Given the description of an element on the screen output the (x, y) to click on. 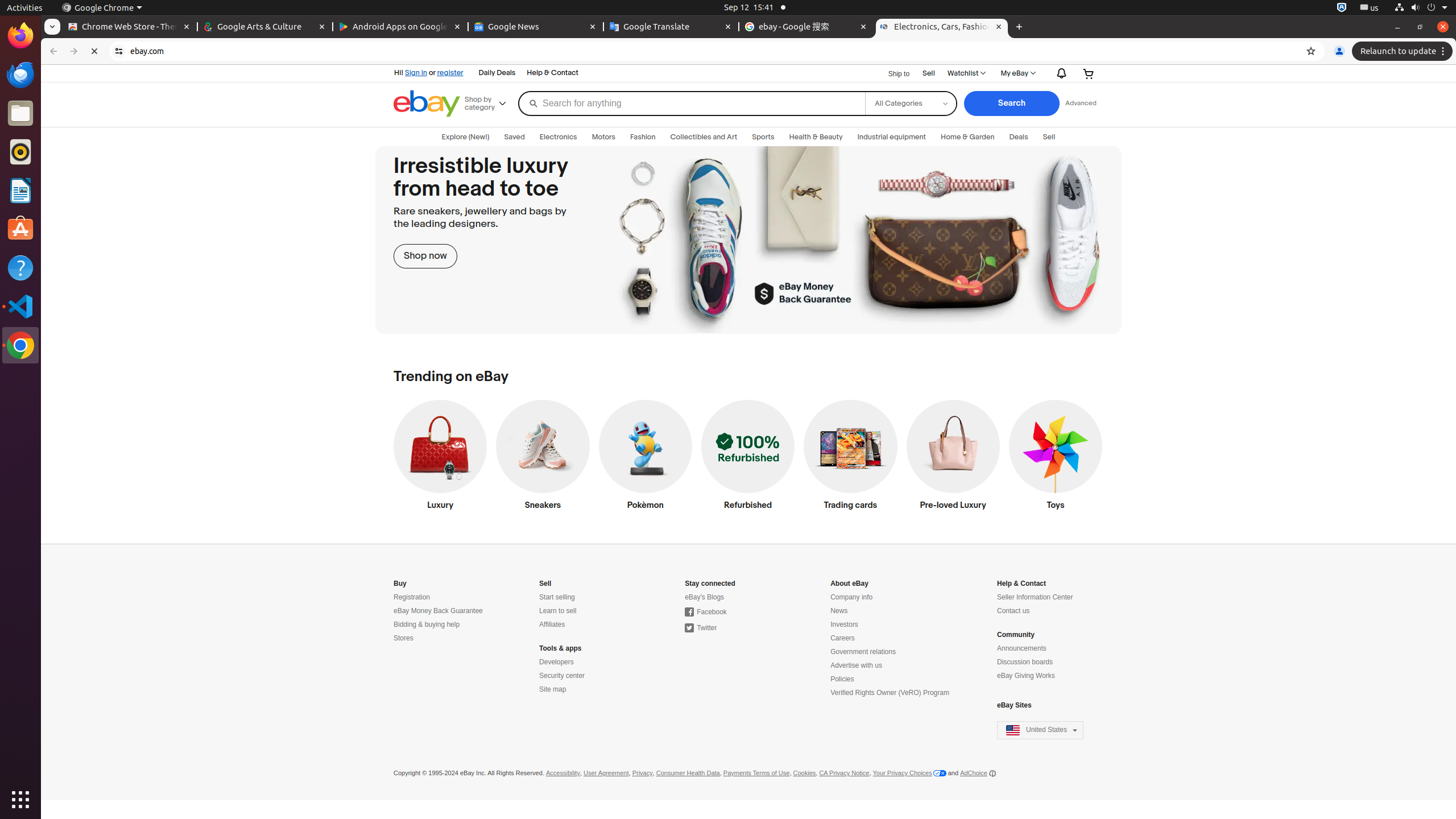
Android Apps on Google Play - Memory usage - 60.7 MB Element type: page-tab (400, 26)
Pre-loved Luxury Element type: link (952, 457)
Community Element type: link (1015, 634)
Relaunch to update Element type: push-button (1403, 50)
Toys Element type: link (1055, 457)
